Given the description of an element on the screen output the (x, y) to click on. 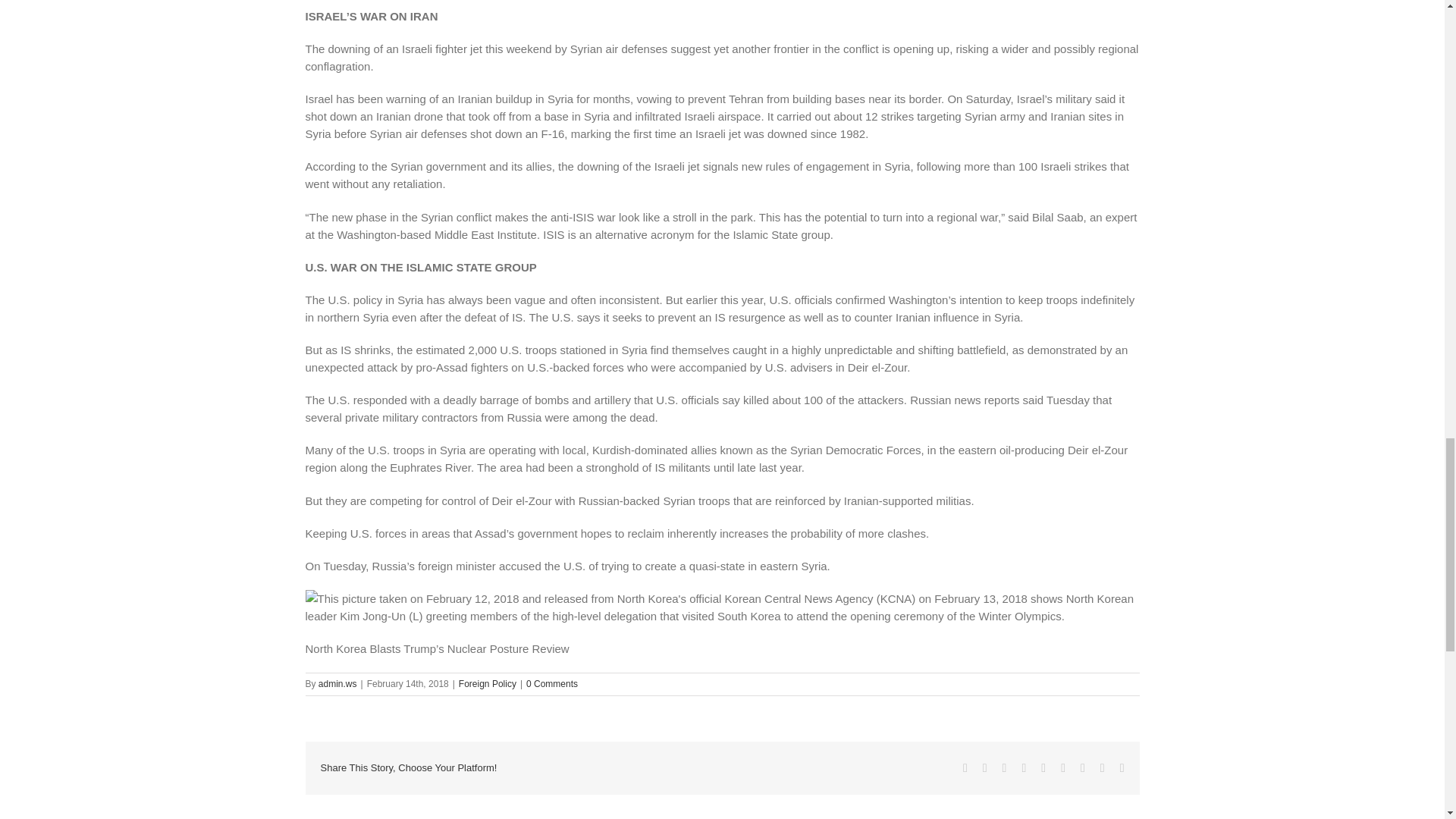
admin.ws (337, 683)
Posts by admin.ws (337, 683)
0 Comments (551, 683)
Foreign Policy (487, 683)
